Given the description of an element on the screen output the (x, y) to click on. 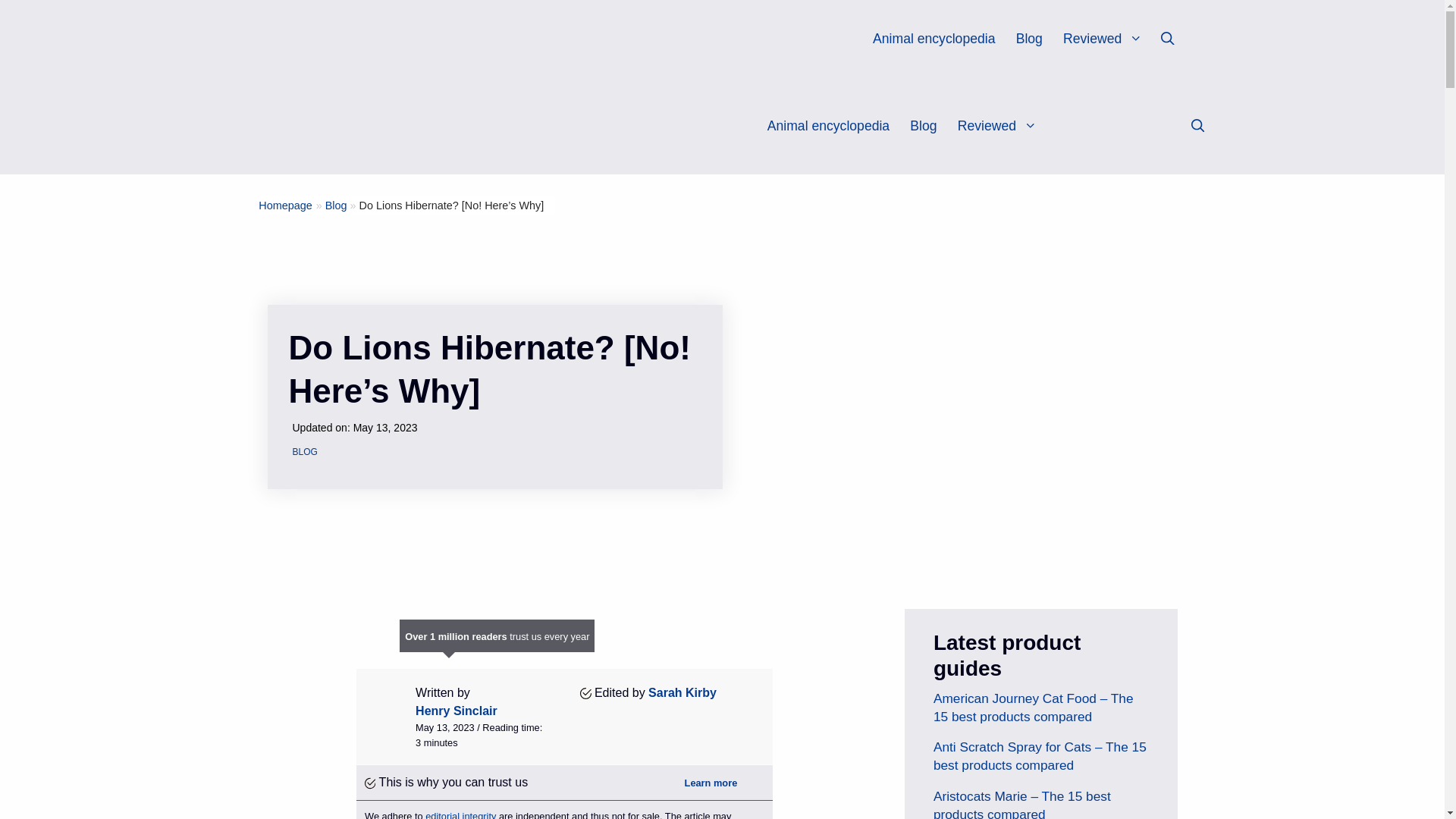
Author-Name (455, 710)
Author-Name (681, 692)
Wild Explained (425, 125)
Category Name (335, 205)
Animal encyclopedia (933, 39)
Reviewed (1108, 39)
